Given the description of an element on the screen output the (x, y) to click on. 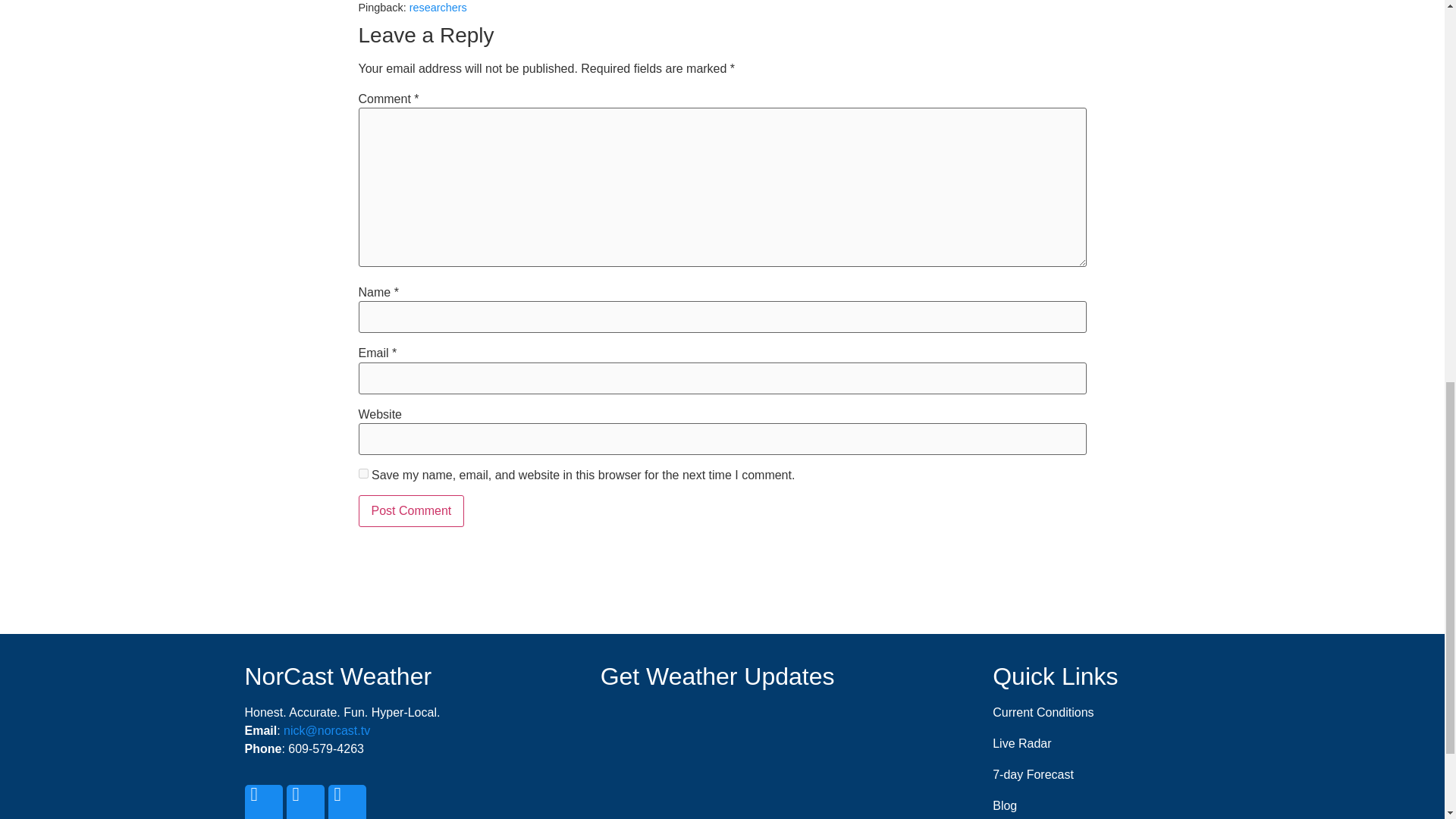
Email List  (717, 724)
Post Comment (411, 511)
yes (363, 473)
